Given the description of an element on the screen output the (x, y) to click on. 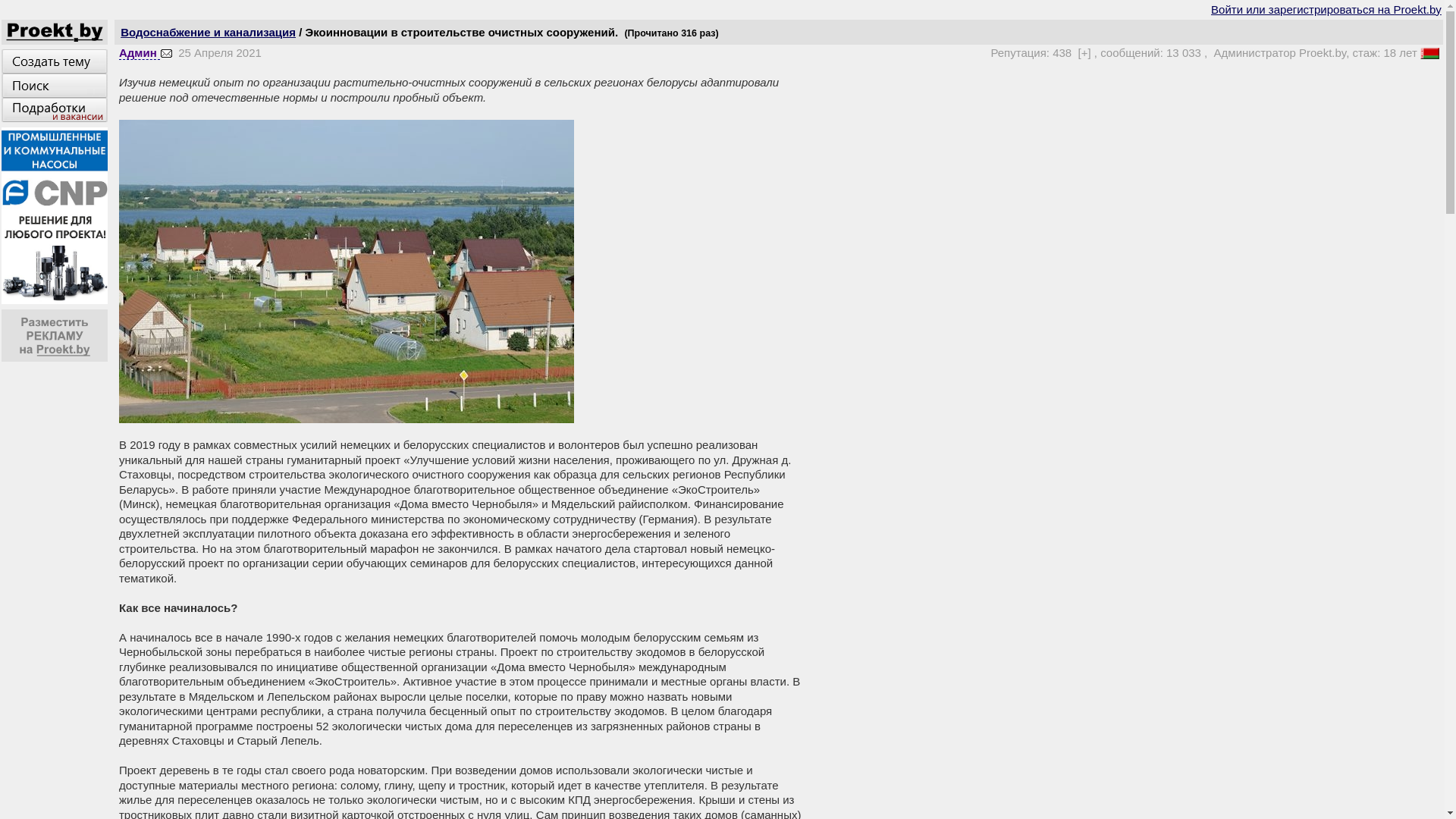
13 033 Element type: text (1183, 52)
[+] Element type: text (1084, 52)
Belarus Element type: hover (1429, 53)
438 Element type: text (1061, 52)
